Given the description of an element on the screen output the (x, y) to click on. 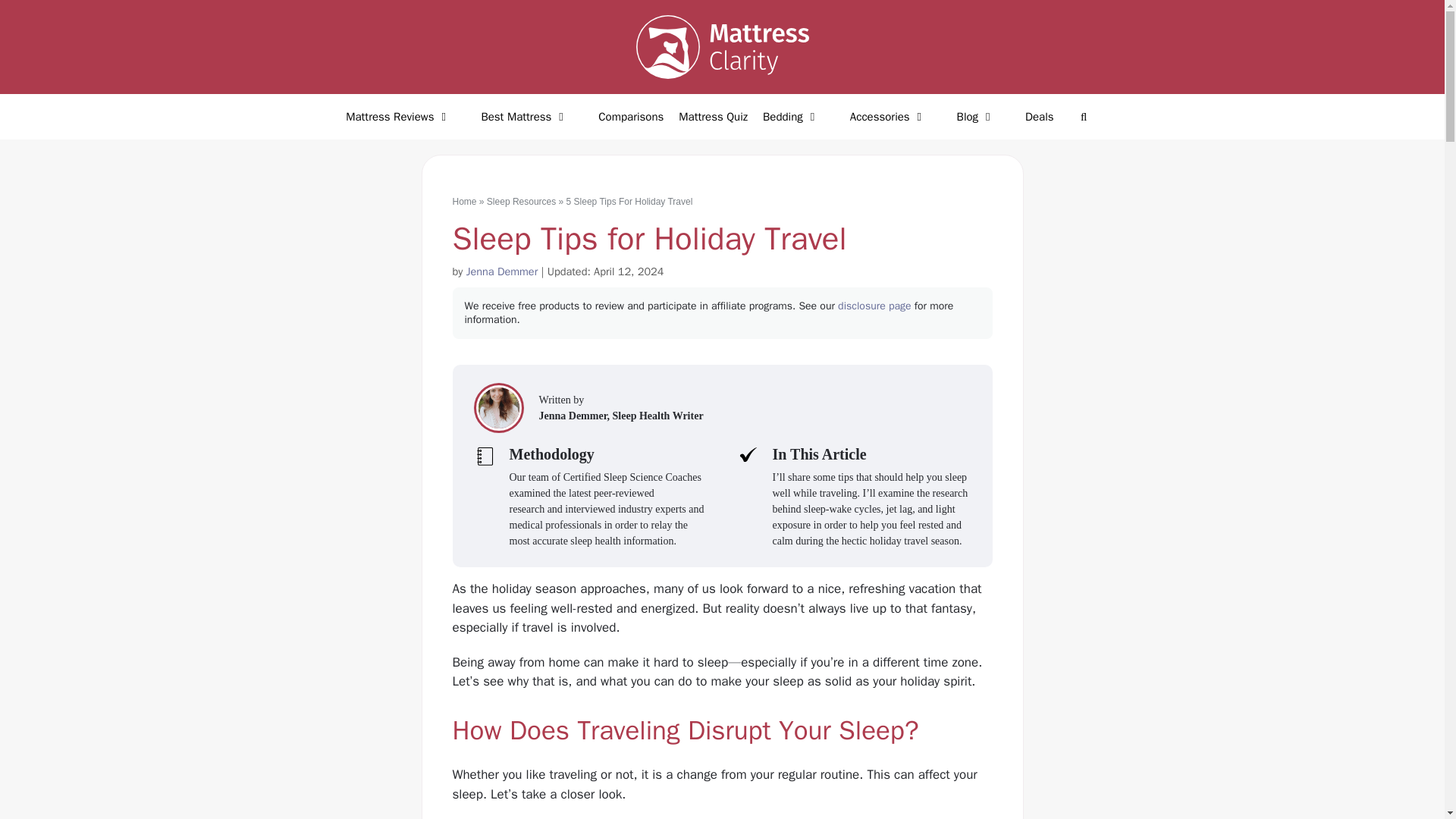
Sleep Tips for Holiday Travel (498, 407)
Mattress Clarity (721, 45)
Mattress Clarity (721, 46)
View all posts by Jenna Demmer (501, 271)
